Given the description of an element on the screen output the (x, y) to click on. 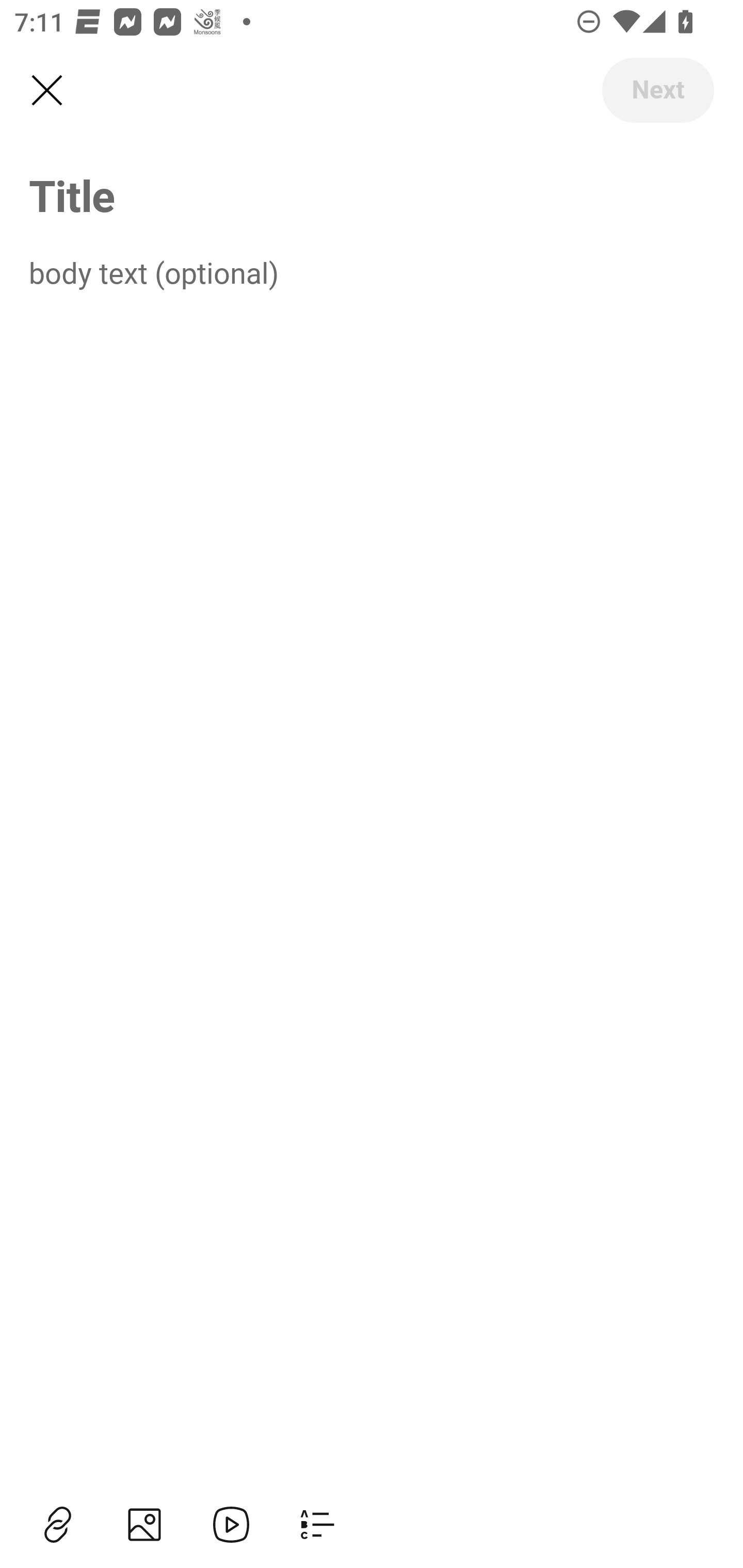
Close (46, 90)
Next (657, 90)
Post title (371, 195)
body text (optional) (371, 271)
